Given the description of an element on the screen output the (x, y) to click on. 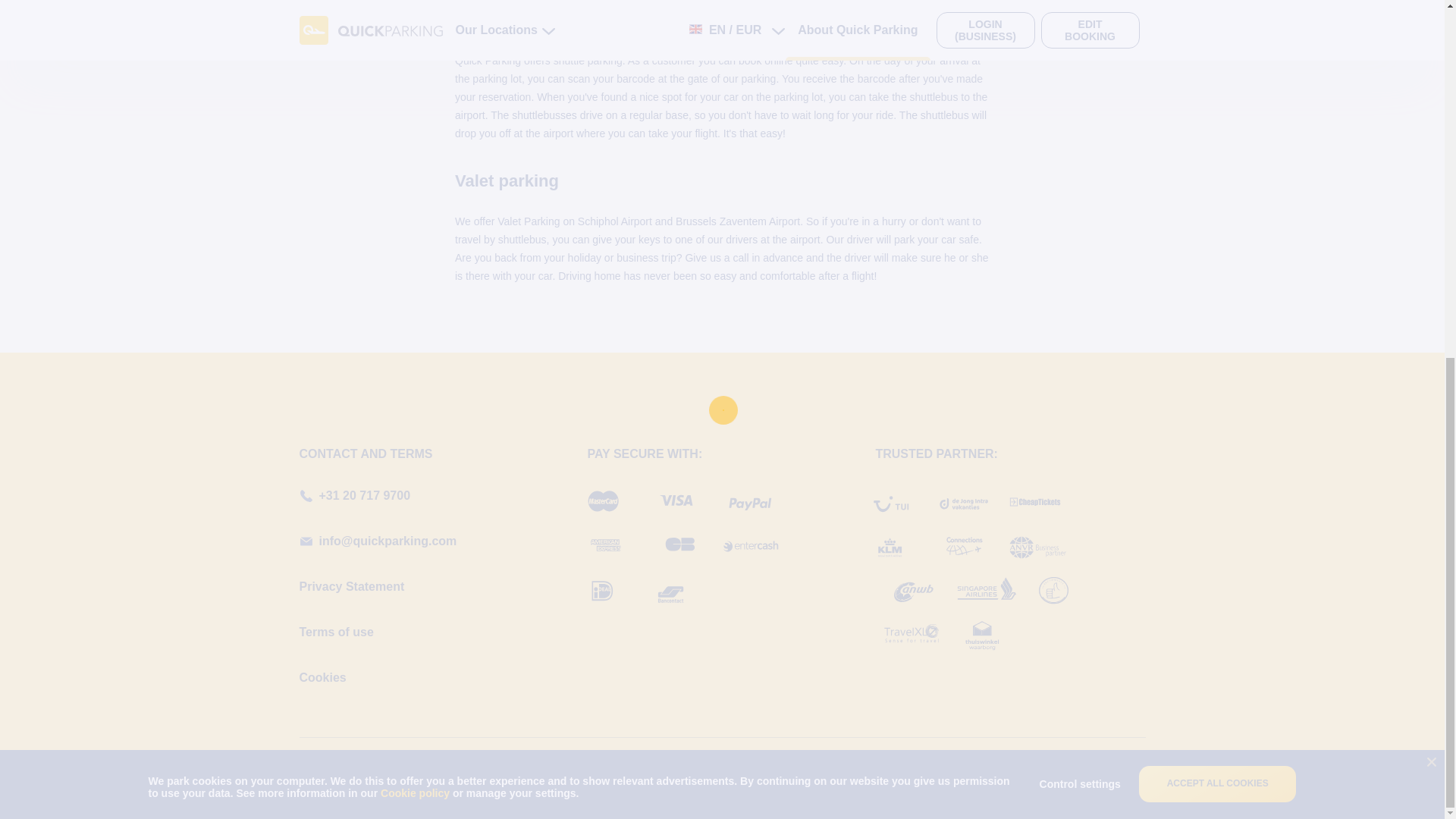
Terms of use (335, 632)
Privacy Statement (351, 586)
Cookie policy (416, 162)
Cookies (322, 677)
ACCEPT ALL COOKIES (1217, 153)
